Given the description of an element on the screen output the (x, y) to click on. 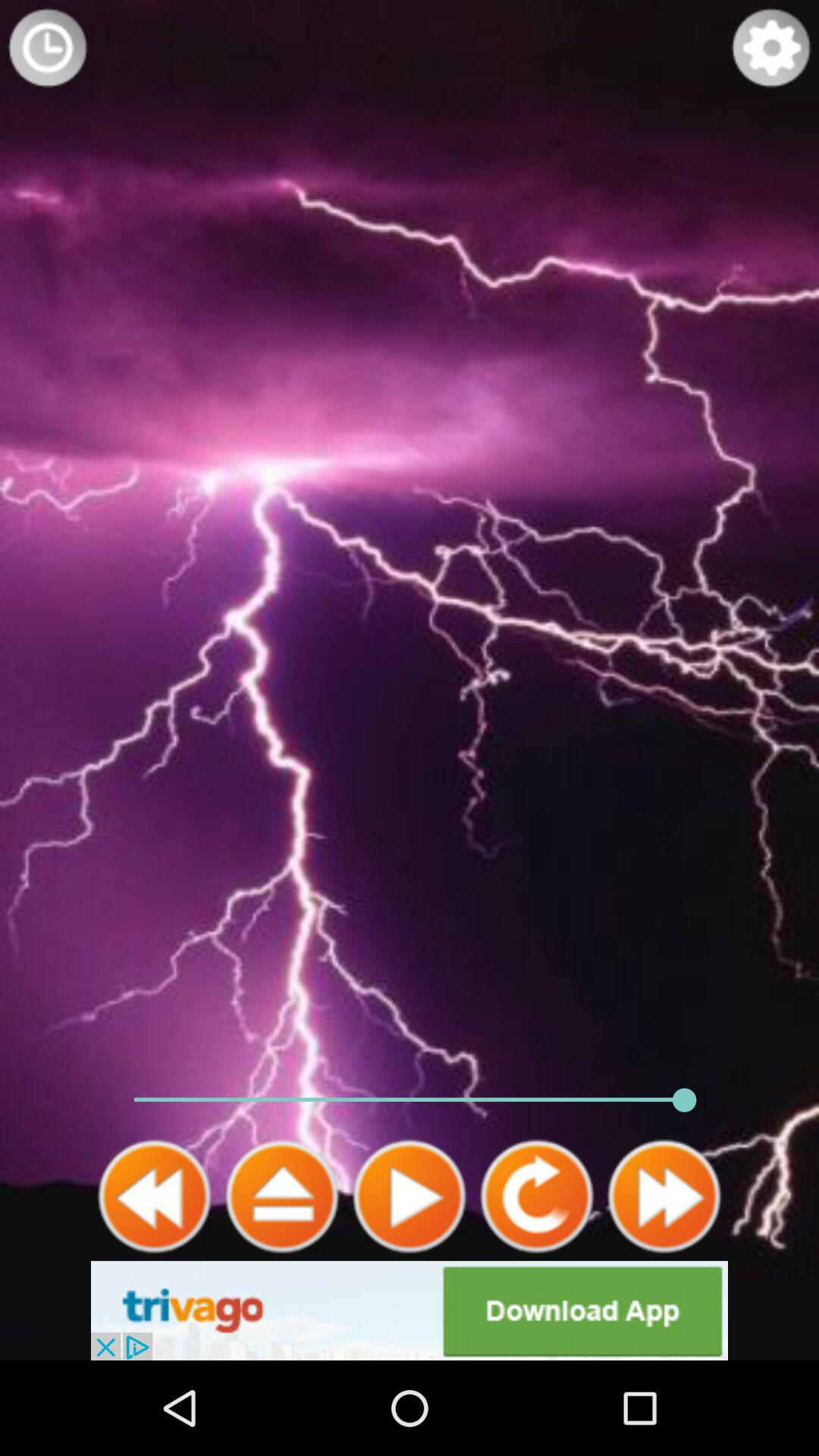
go back (154, 1196)
